Given the description of an element on the screen output the (x, y) to click on. 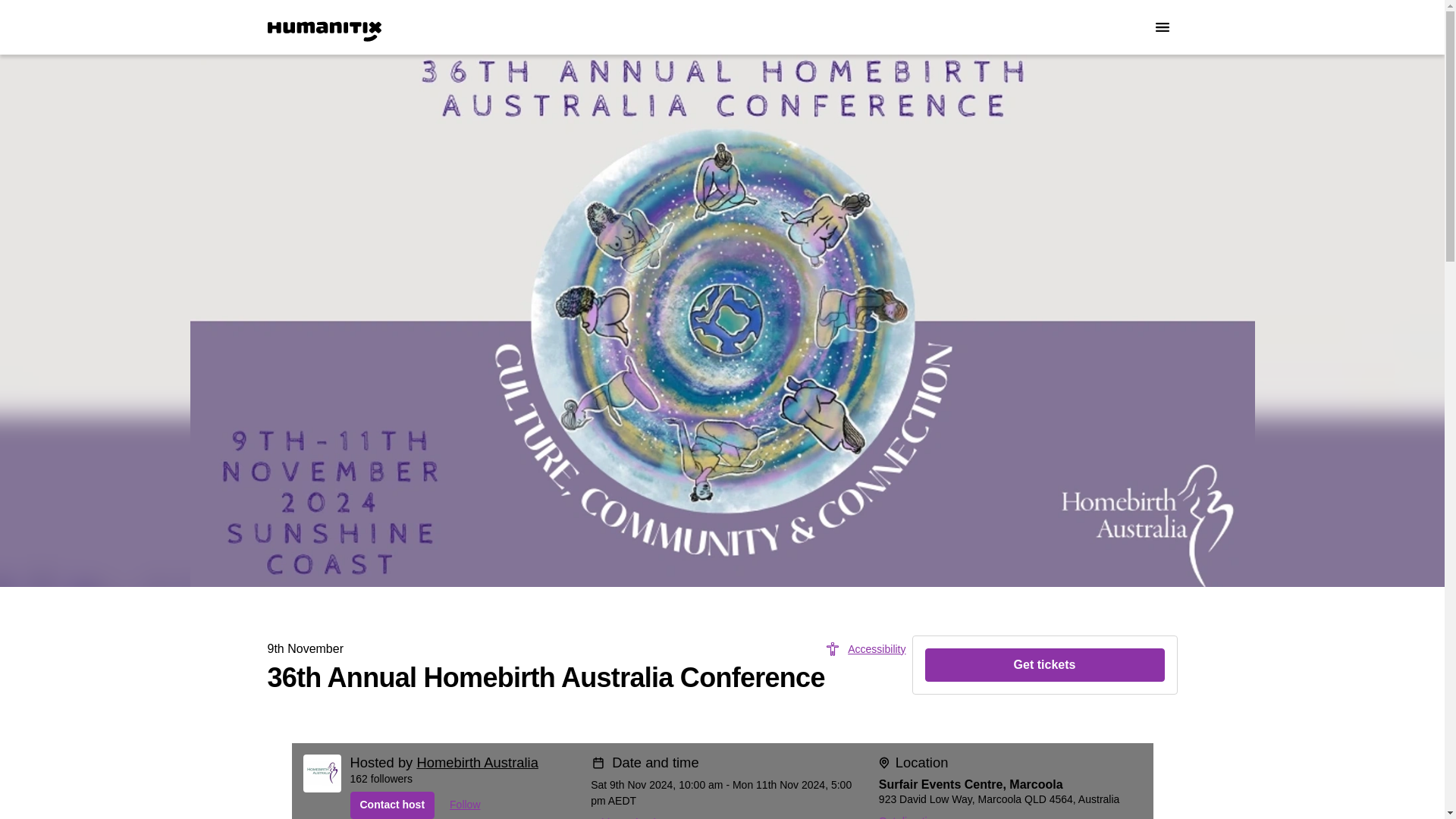
Skip to Content (18, 18)
Homebirth Australia (476, 762)
Accessibility (865, 648)
Follow (465, 805)
Get directions (911, 813)
Add to calendar (628, 814)
Get tickets (1044, 664)
